Given the description of an element on the screen output the (x, y) to click on. 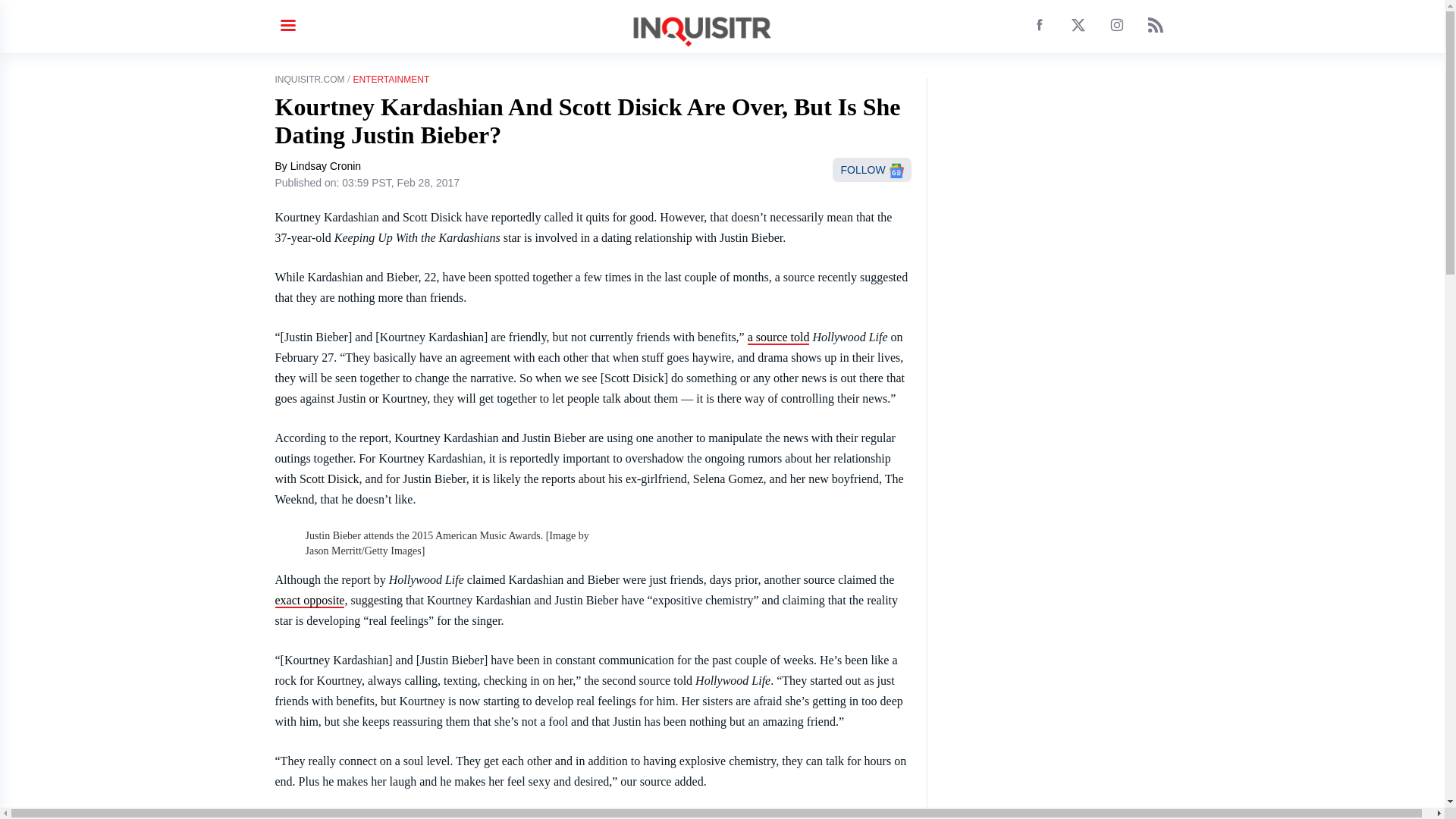
ENTERTAINMENT (390, 79)
INQUISITR.COM (309, 79)
